Given the description of an element on the screen output the (x, y) to click on. 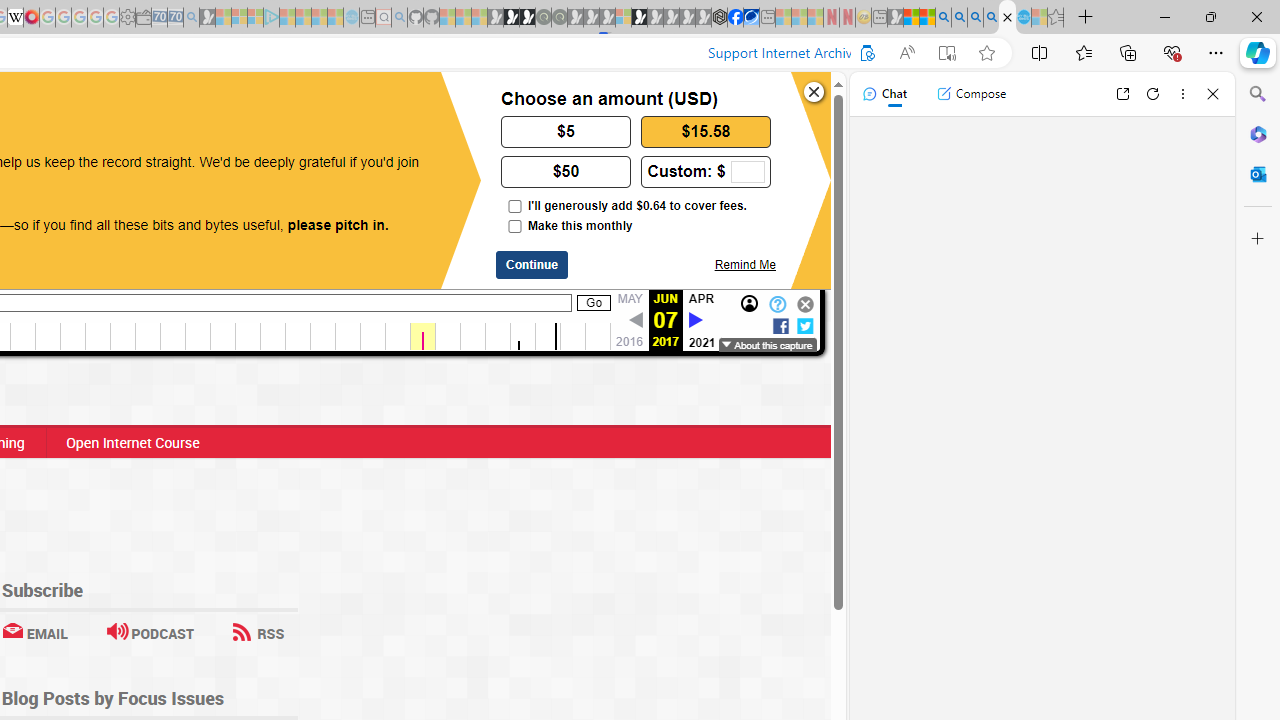
Wallet - Sleeping (143, 17)
DONATE (177, 108)
Open Internet Course (132, 442)
Custom: $ (705, 170)
Expand the search (258, 101)
Go (594, 303)
Compose (971, 93)
Bing AI - Search (943, 17)
